Given the description of an element on the screen output the (x, y) to click on. 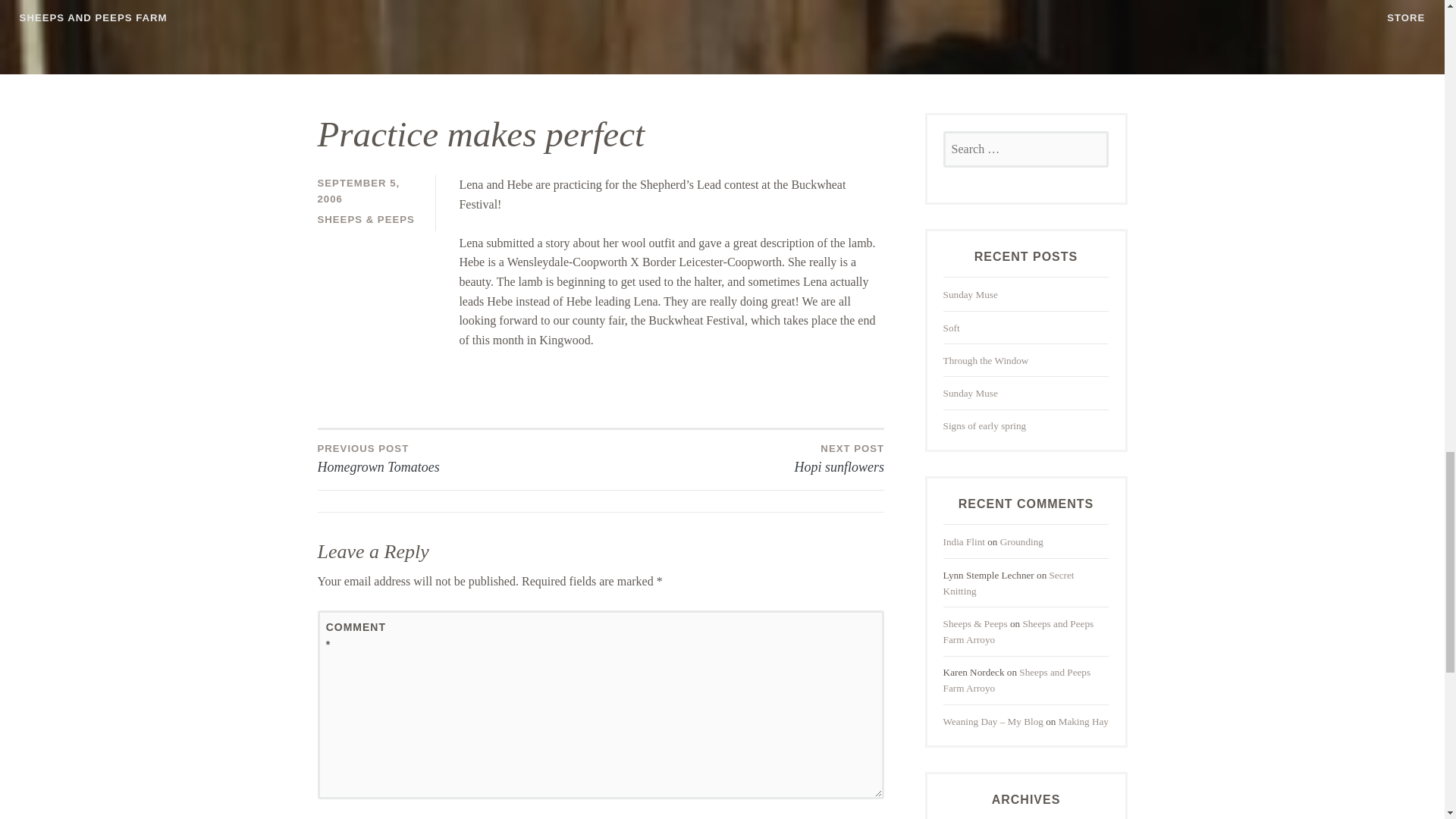
Soft (951, 327)
Through the Window (986, 360)
SEPTEMBER 5, 2006 (357, 190)
Sheeps and Peeps Farm Arroyo (1016, 679)
India Flint (964, 541)
Signs of early spring (984, 425)
Secret Knitting (1008, 583)
Making Hay (1083, 721)
Sheeps and Peeps Farm Arroyo (1018, 631)
Grounding (1021, 541)
